Given the description of an element on the screen output the (x, y) to click on. 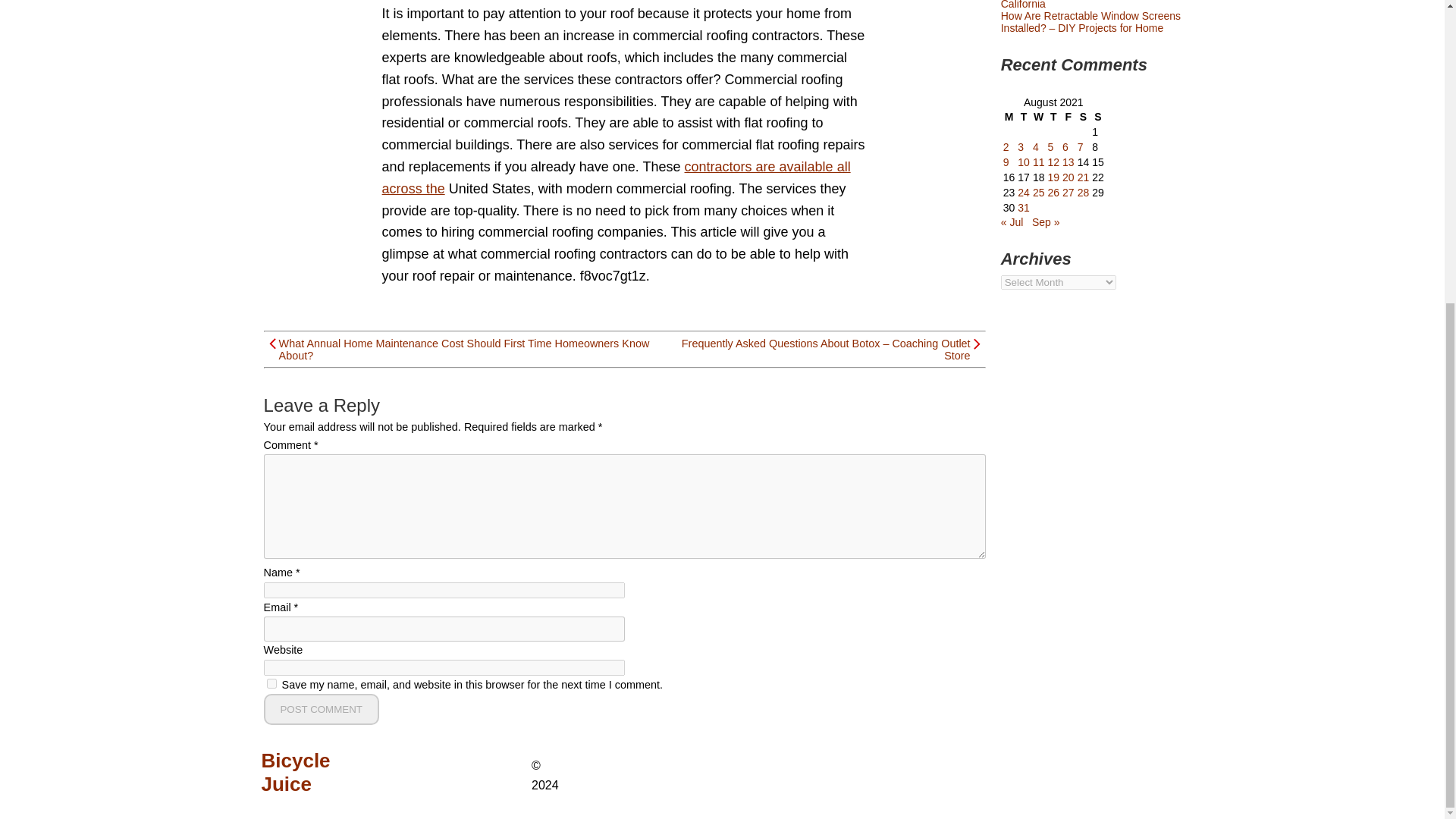
Saturday (1083, 116)
Friday (1068, 116)
27 (1068, 192)
12 (1052, 162)
Thursday (1052, 116)
yes (271, 683)
6 (1065, 146)
19 (1052, 177)
4 (1035, 146)
28 (1083, 192)
10 Tips on Starting a Restaurant in California (1082, 4)
Tuesday (1023, 116)
Post Comment (320, 708)
Sunday (1097, 116)
11 (1038, 162)
